Given the description of an element on the screen output the (x, y) to click on. 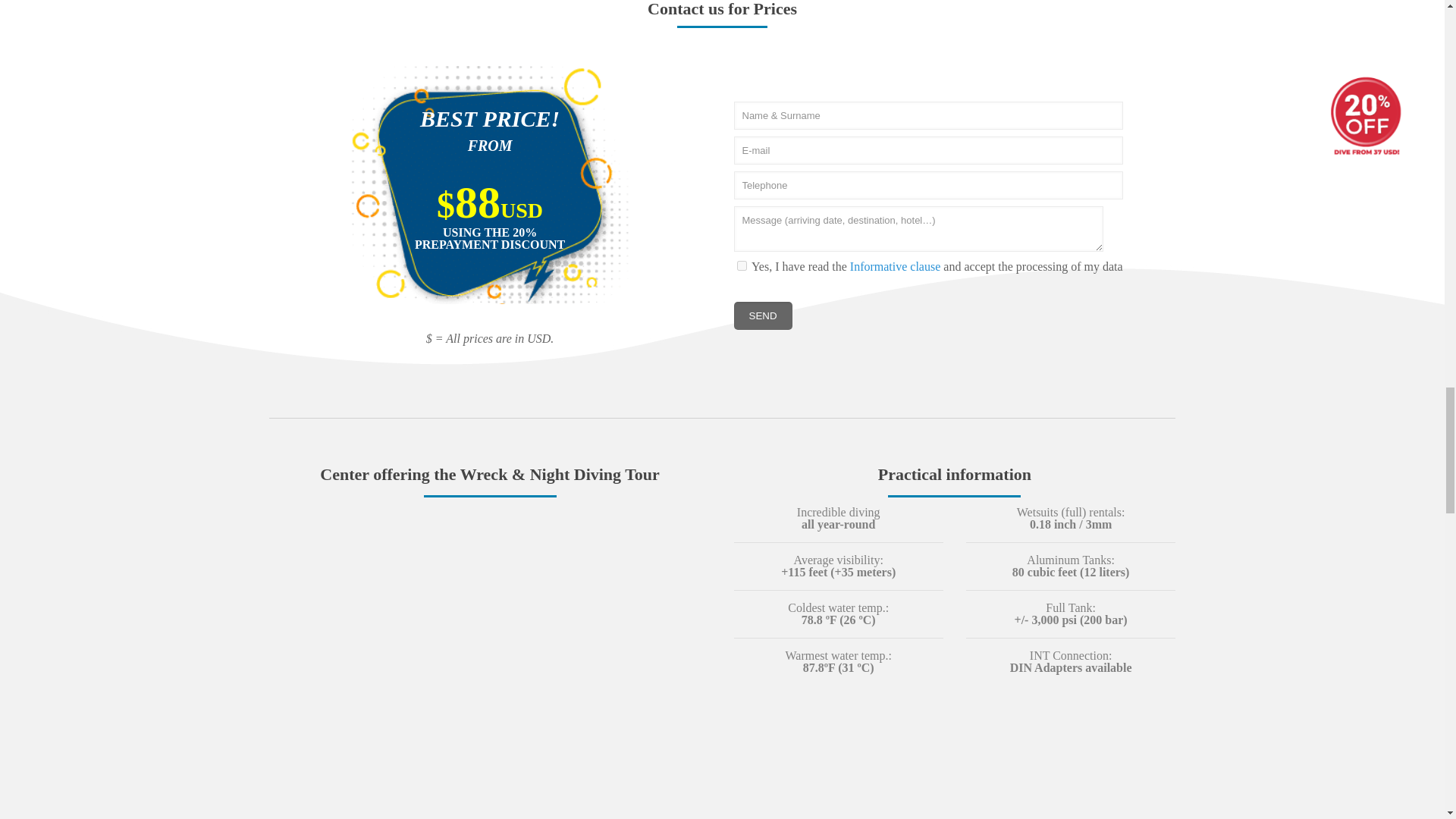
1 (741, 266)
SEND (762, 316)
